Given the description of an element on the screen output the (x, y) to click on. 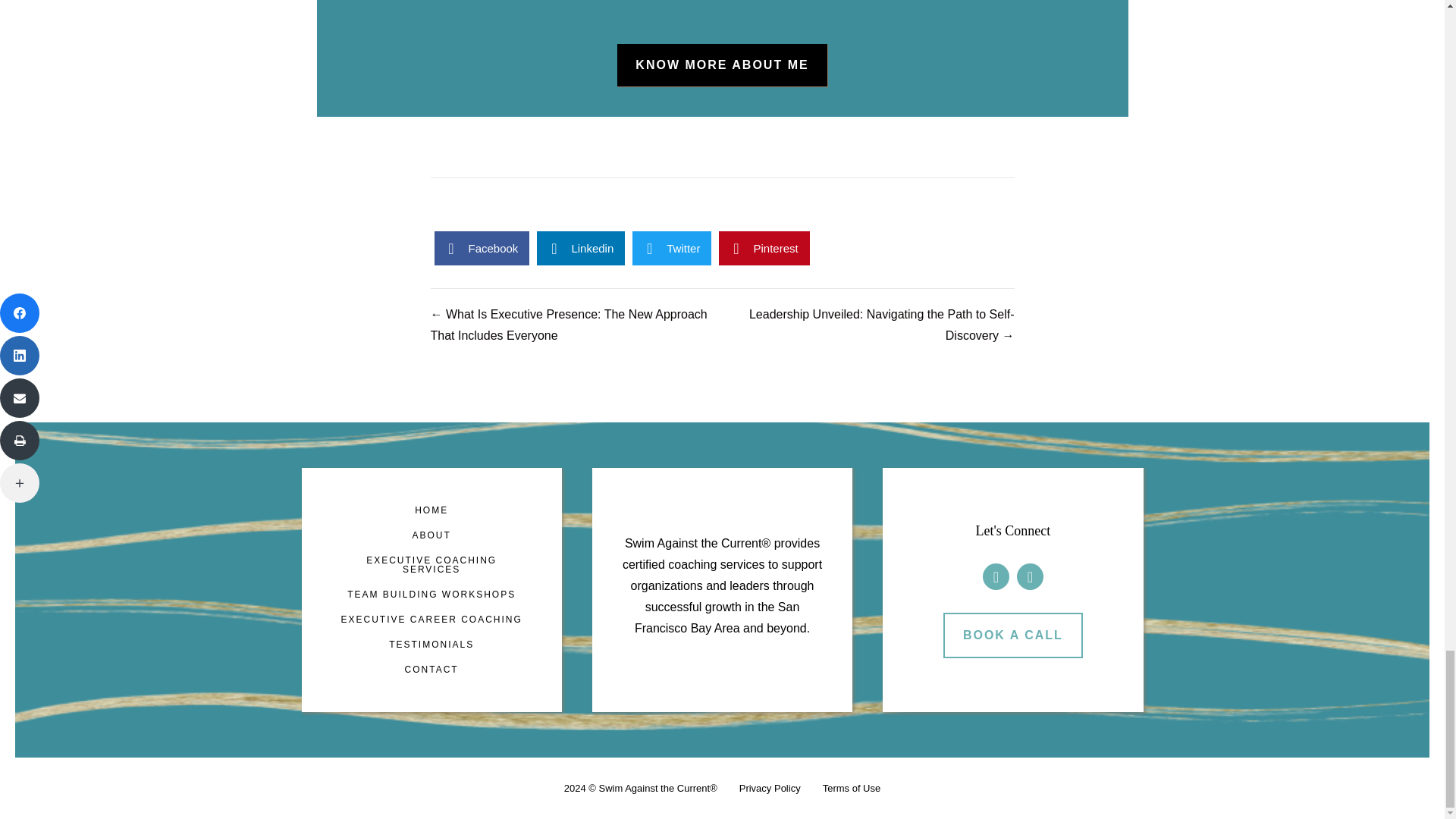
KNOW MORE ABOUT ME (722, 65)
Linkedin (580, 247)
Facebook (1029, 576)
Facebook (481, 247)
Pinterest (764, 247)
Twitter (671, 247)
LinkedIn (995, 576)
